Given the description of an element on the screen output the (x, y) to click on. 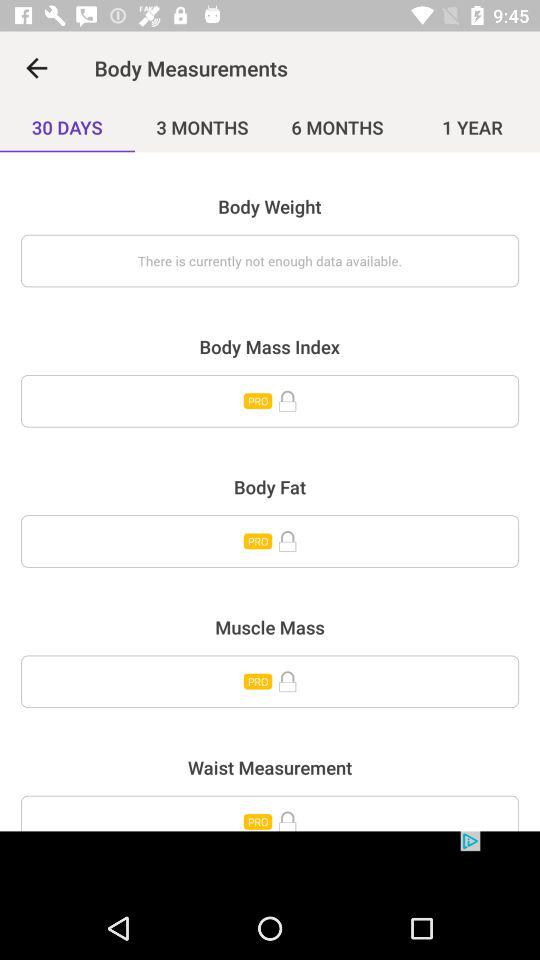
body mass index (269, 401)
